Given the description of an element on the screen output the (x, y) to click on. 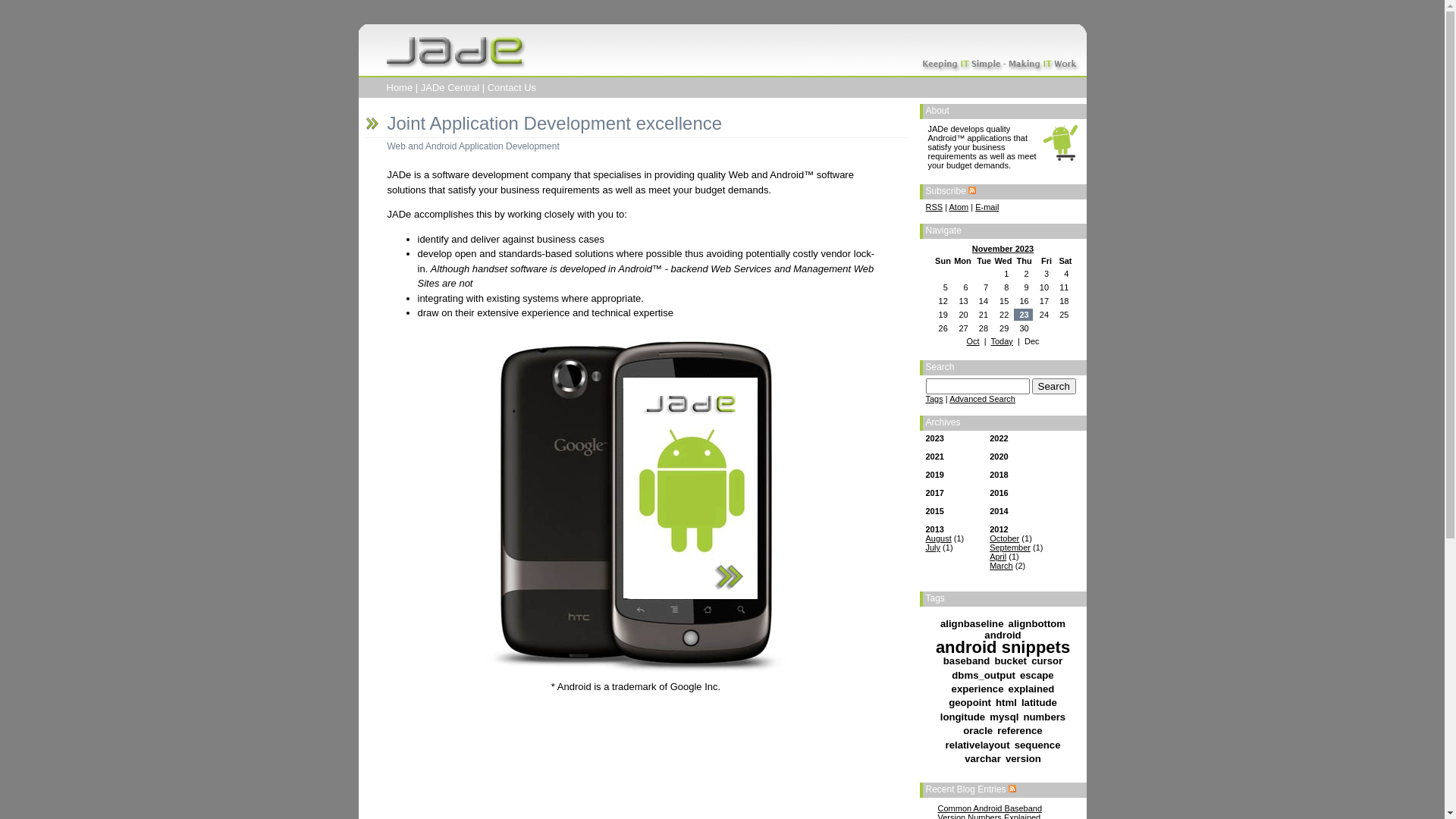
E-mail Element type: text (986, 206)
August Element type: text (937, 537)
RSS feed for Recent Blog Entries Element type: hover (1012, 789)
RSS feed Element type: hover (971, 190)
September Element type: text (1009, 547)
varchar Element type: text (982, 758)
April Element type: text (997, 556)
android snippets Element type: text (1002, 646)
Contact Us Element type: text (511, 87)
latitude Element type: text (1039, 702)
version Element type: text (1023, 758)
escape Element type: text (1036, 674)
explained Element type: text (1031, 688)
Advanced Search Element type: text (982, 398)
alignbaseline Element type: text (972, 623)
Today Element type: text (1001, 340)
sequence Element type: text (1037, 744)
mysql Element type: text (1003, 716)
bucket Element type: text (1010, 660)
RSS Element type: text (933, 206)
experience Element type: text (977, 688)
android Element type: text (1002, 634)
relativelayout Element type: text (976, 744)
reference Element type: text (1019, 730)
dbms_output Element type: text (983, 674)
March Element type: text (1001, 565)
JADe Central Element type: text (449, 87)
Oct Element type: text (972, 340)
October Element type: text (1004, 537)
cursor Element type: text (1046, 660)
Joint Application Development excellence Element type: text (553, 122)
longitude Element type: text (962, 716)
geopoint Element type: text (969, 702)
Tags Element type: text (933, 398)
baseband Element type: text (966, 660)
numbers Element type: text (1044, 716)
html Element type: text (1005, 702)
Atom Element type: text (959, 206)
November 2023 Element type: text (1002, 248)
Search Element type: text (1054, 386)
July Element type: text (932, 547)
Home Element type: text (399, 87)
oracle Element type: text (977, 730)
alignbottom Element type: text (1036, 623)
